Given the description of an element on the screen output the (x, y) to click on. 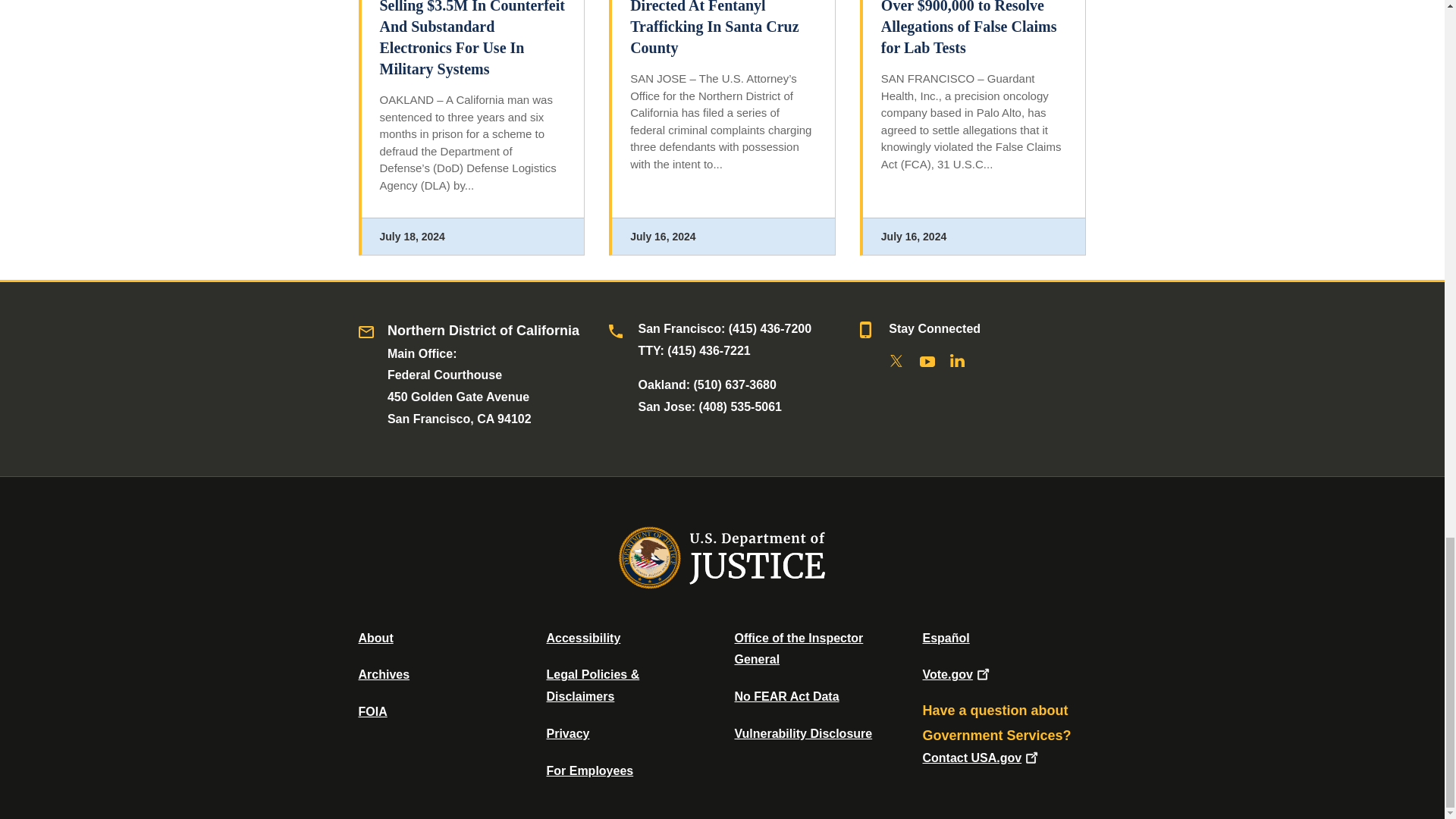
Department of Justice Archive (383, 674)
About DOJ (375, 637)
Data Posted Pursuant To The No Fear Act (785, 696)
Office of Information Policy (372, 711)
Legal Policies and Disclaimers (592, 685)
For Employees (589, 770)
Accessibility Statement (583, 637)
